Given the description of an element on the screen output the (x, y) to click on. 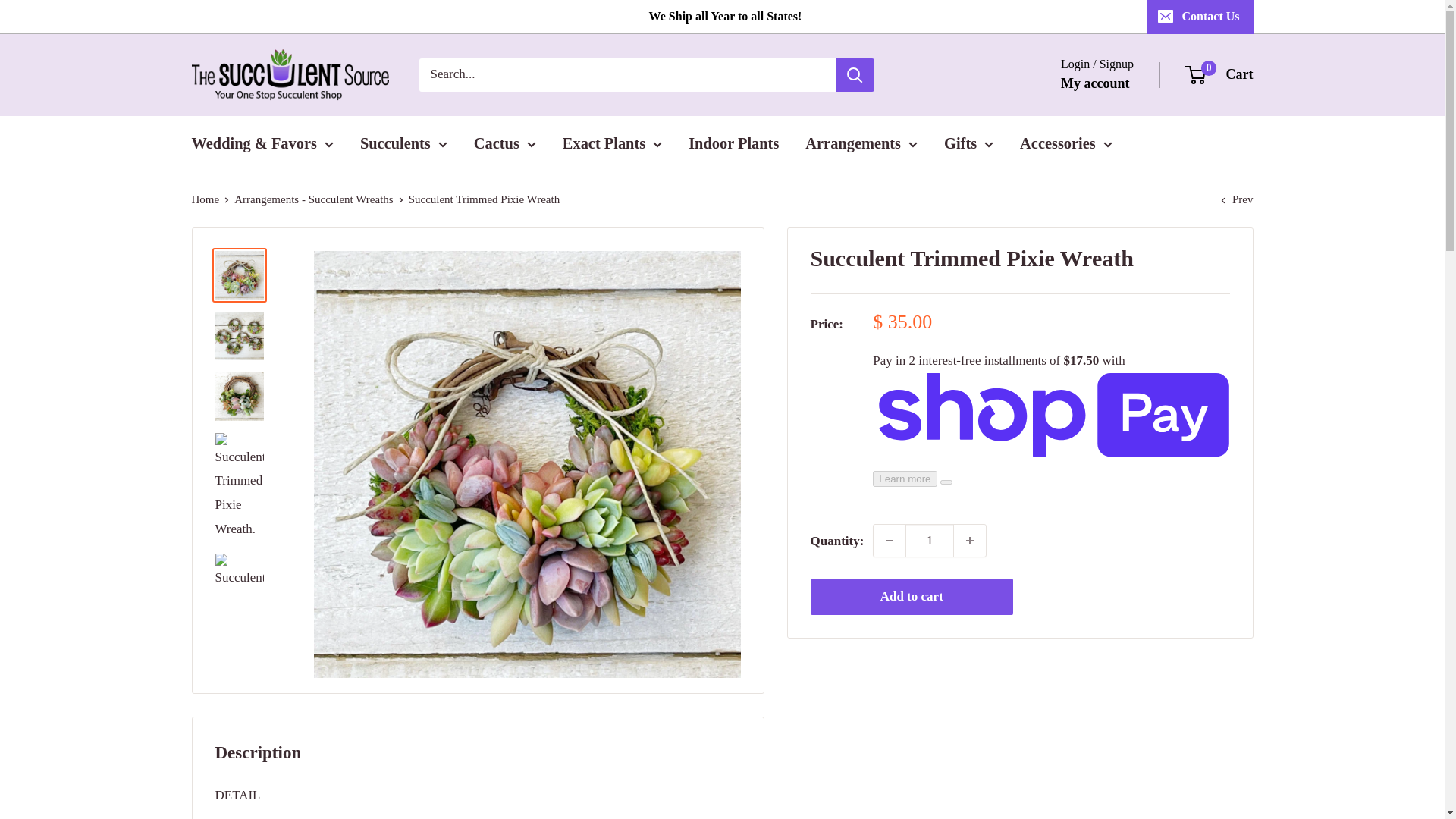
Contact Us (1200, 16)
1 (929, 540)
Decrease quantity by 1 (889, 540)
Increase quantity by 1 (969, 540)
